Given the description of an element on the screen output the (x, y) to click on. 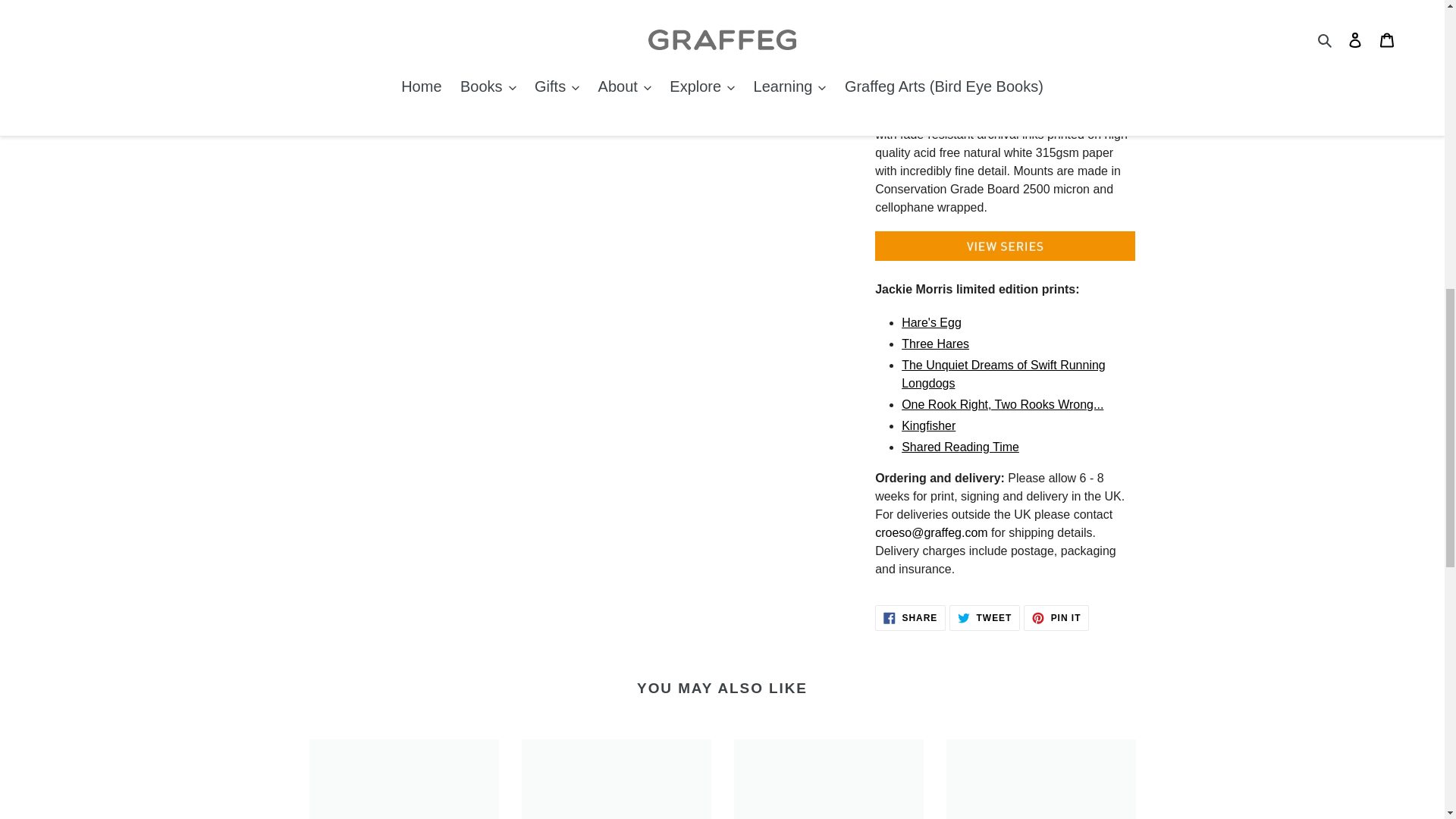
View the Jackie Morris collection (1005, 256)
